Given the description of an element on the screen output the (x, y) to click on. 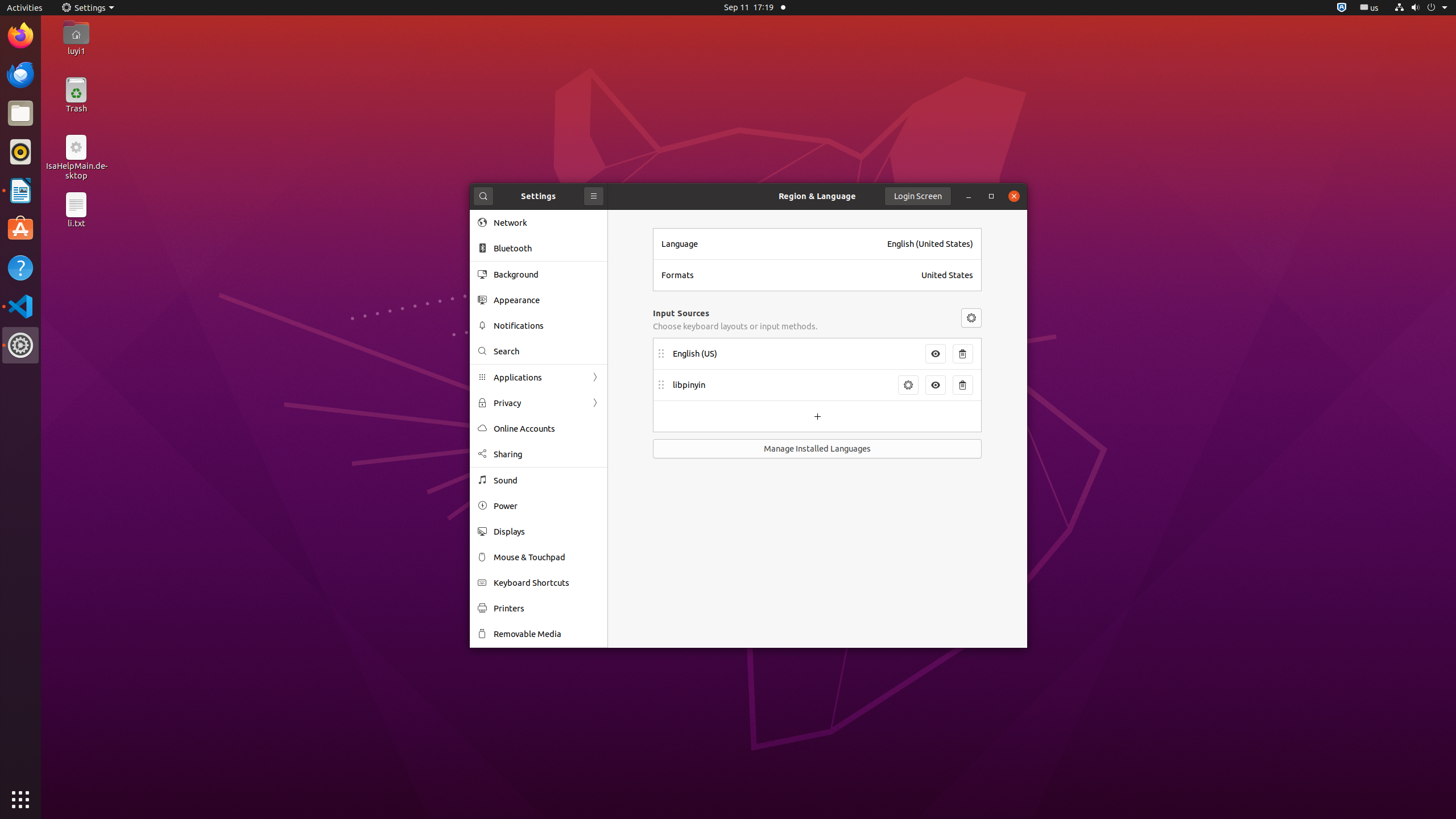
libpinyin Element type: label (781, 384)
li.txt Element type: label (75, 223)
Maximize Element type: push-button (991, 195)
Online Accounts Element type: label (546, 428)
